Given the description of an element on the screen output the (x, y) to click on. 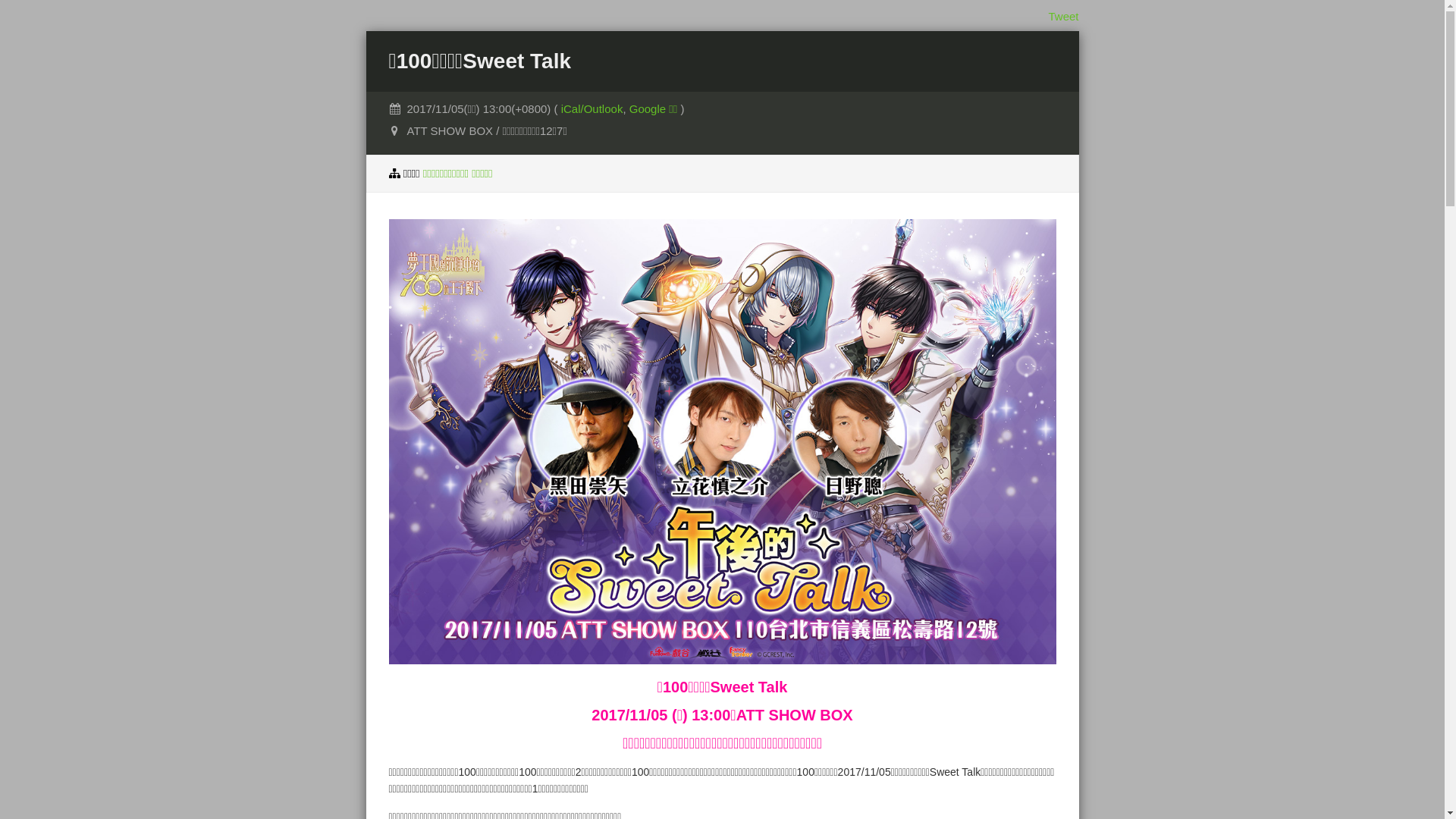
iCal/Outlook Element type: text (592, 108)
Tweet Element type: text (1063, 15)
